Given the description of an element on the screen output the (x, y) to click on. 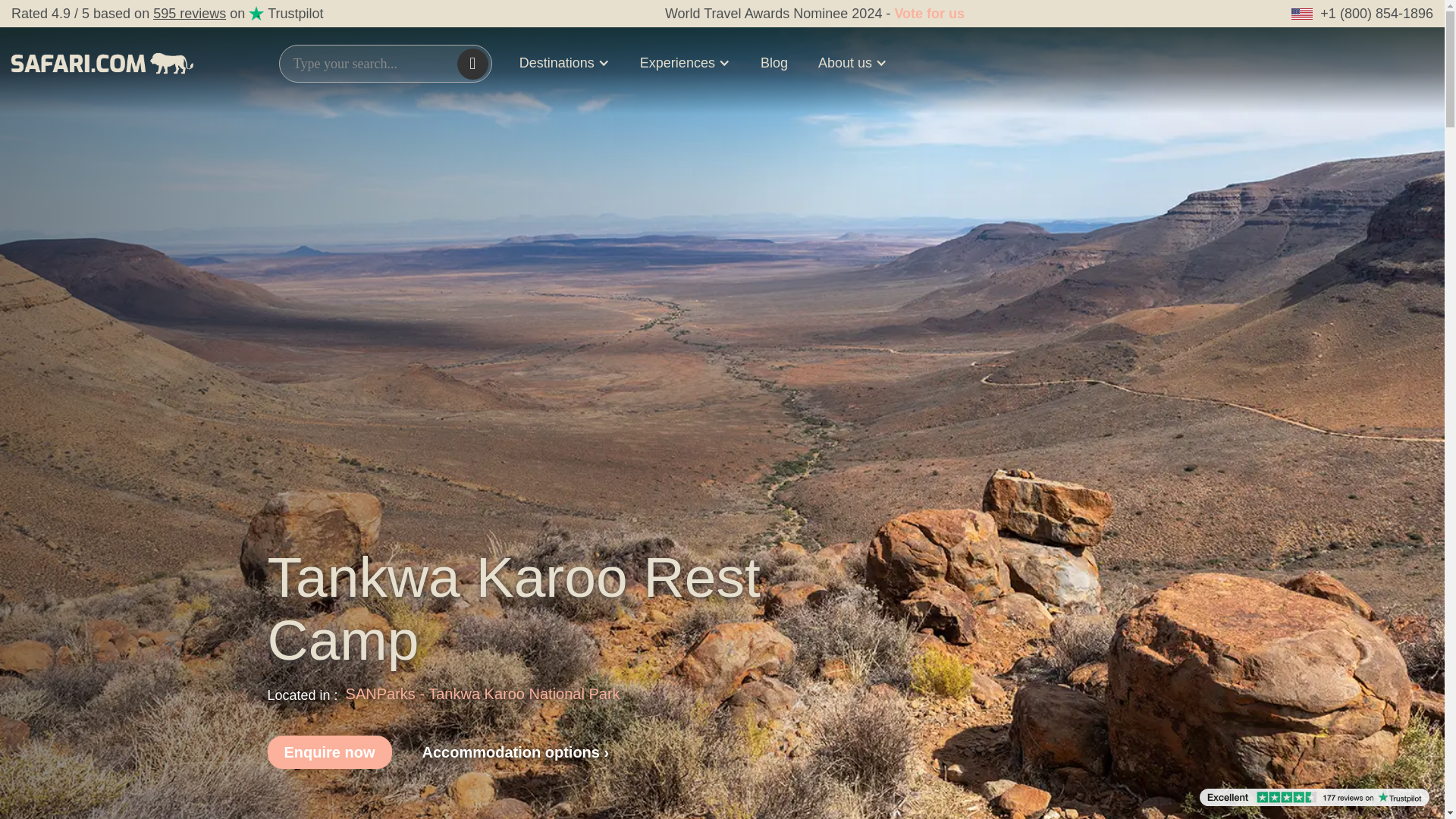
595 reviews (188, 13)
Vote for us (928, 13)
Blog (774, 62)
